Given the description of an element on the screen output the (x, y) to click on. 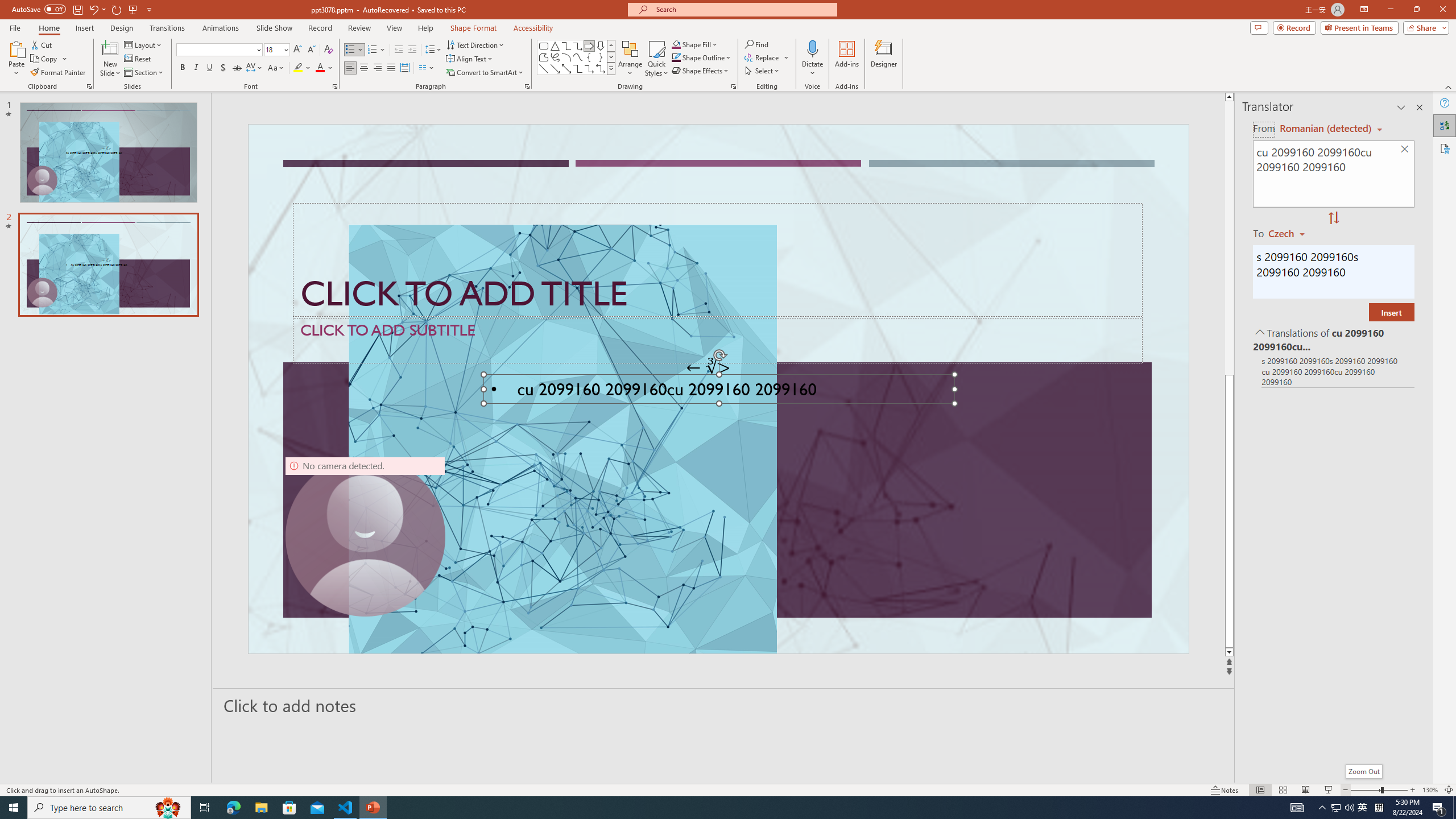
Zoom 130% (1430, 790)
An abstract genetic concept (718, 388)
Connector: Elbow Double-Arrow (600, 68)
